Given the description of an element on the screen output the (x, y) to click on. 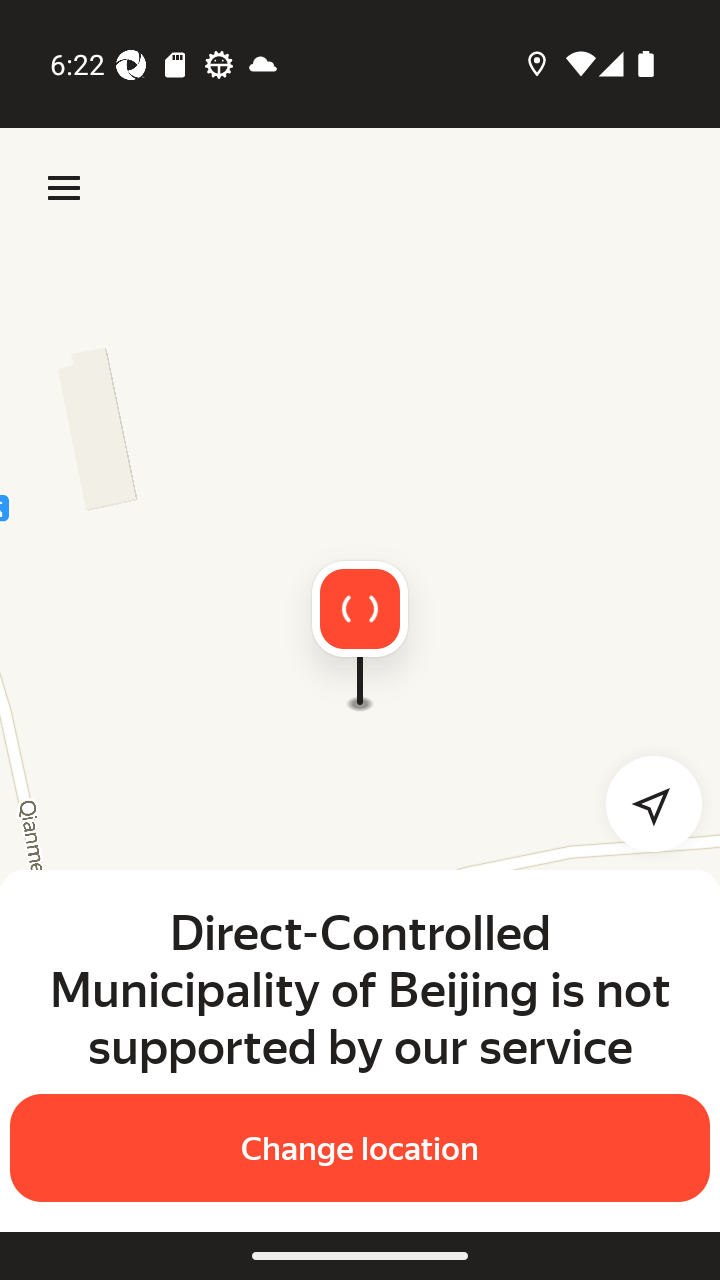
Menu Menu Menu (64, 188)
Detect my location (641, 803)
Change location (359, 1147)
